Given the description of an element on the screen output the (x, y) to click on. 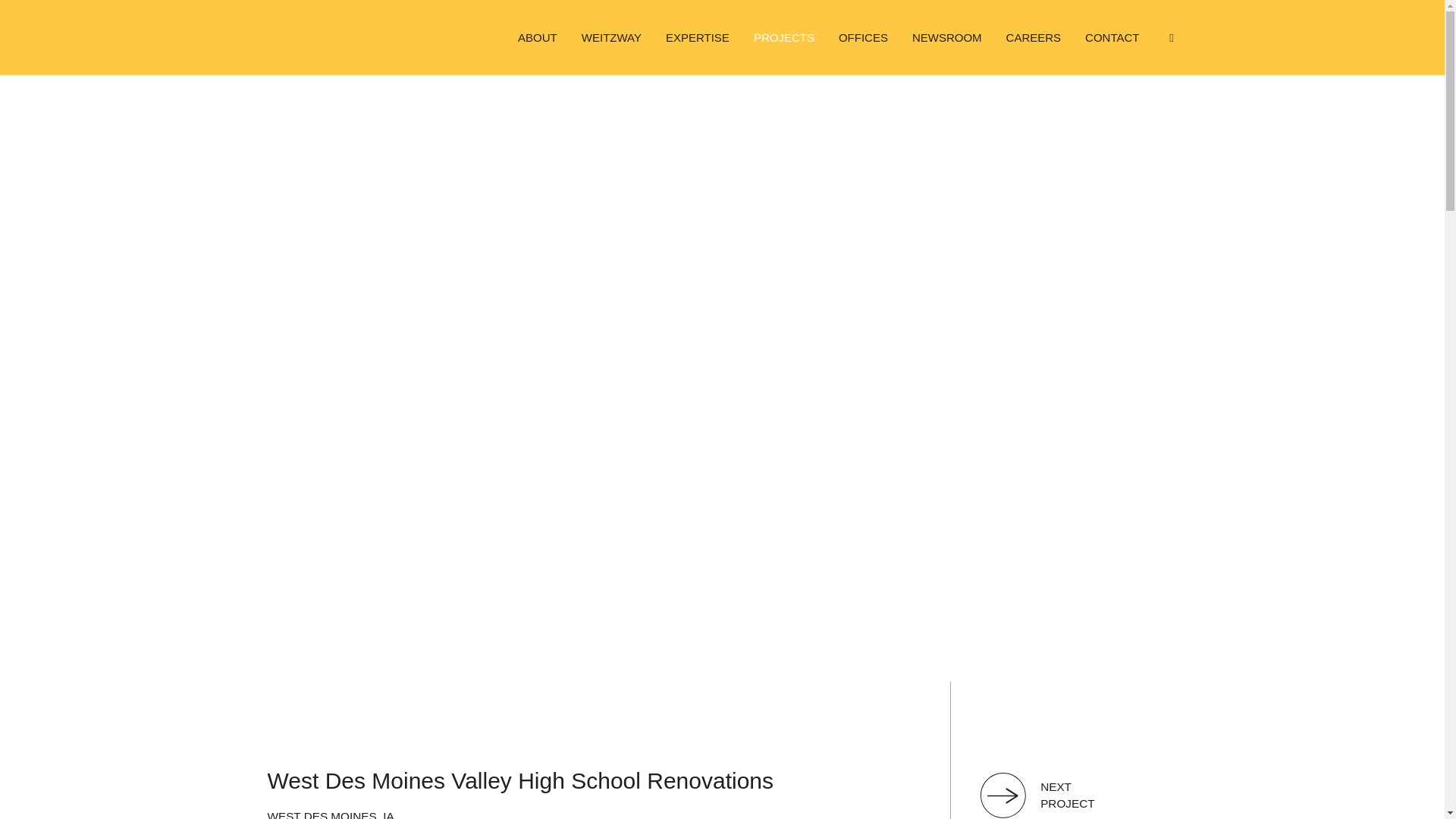
CONTACT (1112, 37)
OFFICES (863, 37)
Weitz (315, 37)
NEWSROOM (946, 37)
CAREERS (1034, 37)
EXPERTISE (697, 37)
Weitz (315, 37)
PROJECTS (784, 37)
WEITZWAY (611, 37)
